Given the description of an element on the screen output the (x, y) to click on. 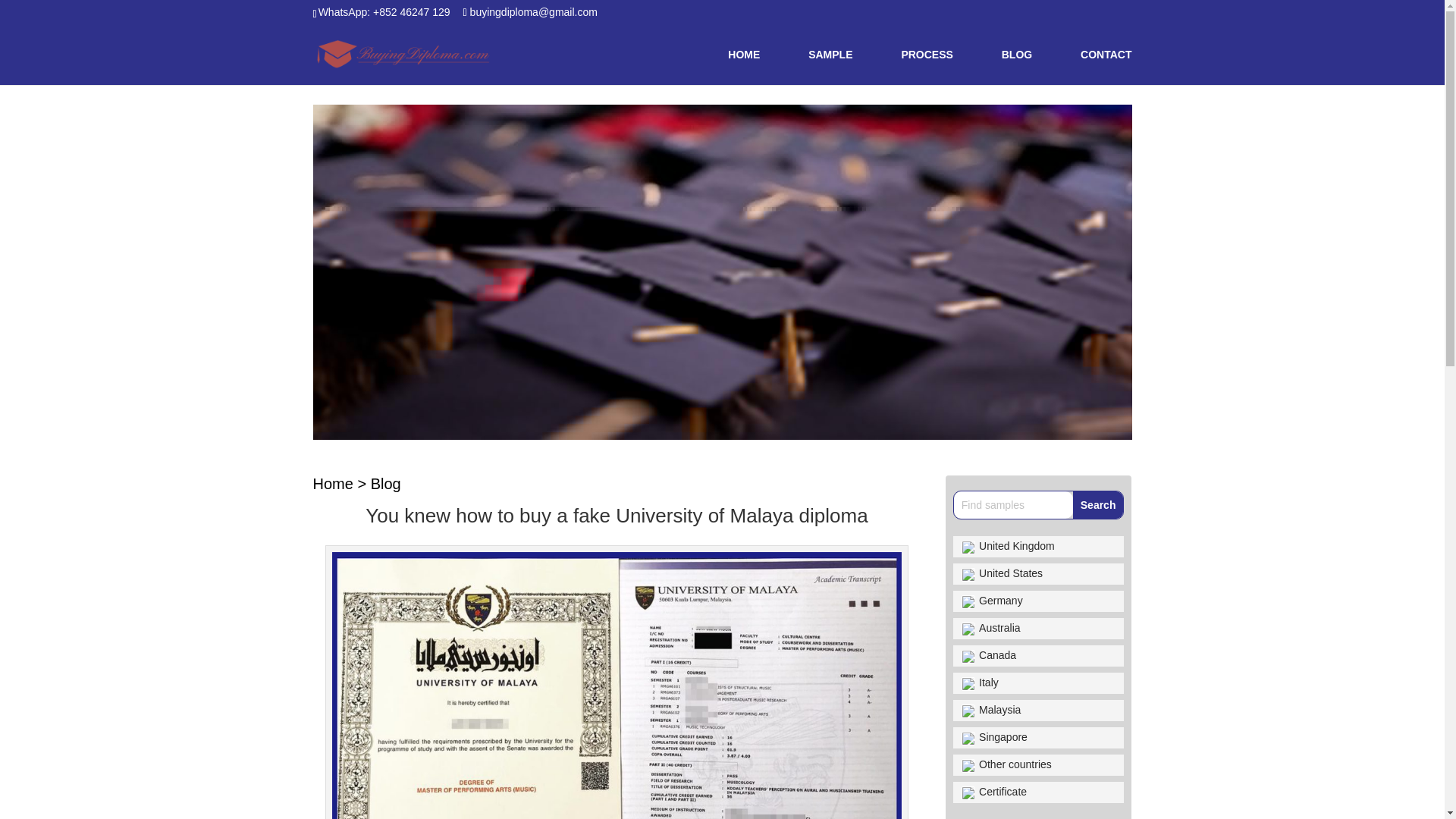
Certificate (1037, 792)
SAMPLE (829, 67)
PROCESS (926, 67)
Singapore (1037, 737)
Canada (1037, 655)
HOME (744, 67)
Search (1098, 504)
Blog (386, 483)
CONTACT (1105, 67)
Italy (1037, 682)
